Given the description of an element on the screen output the (x, y) to click on. 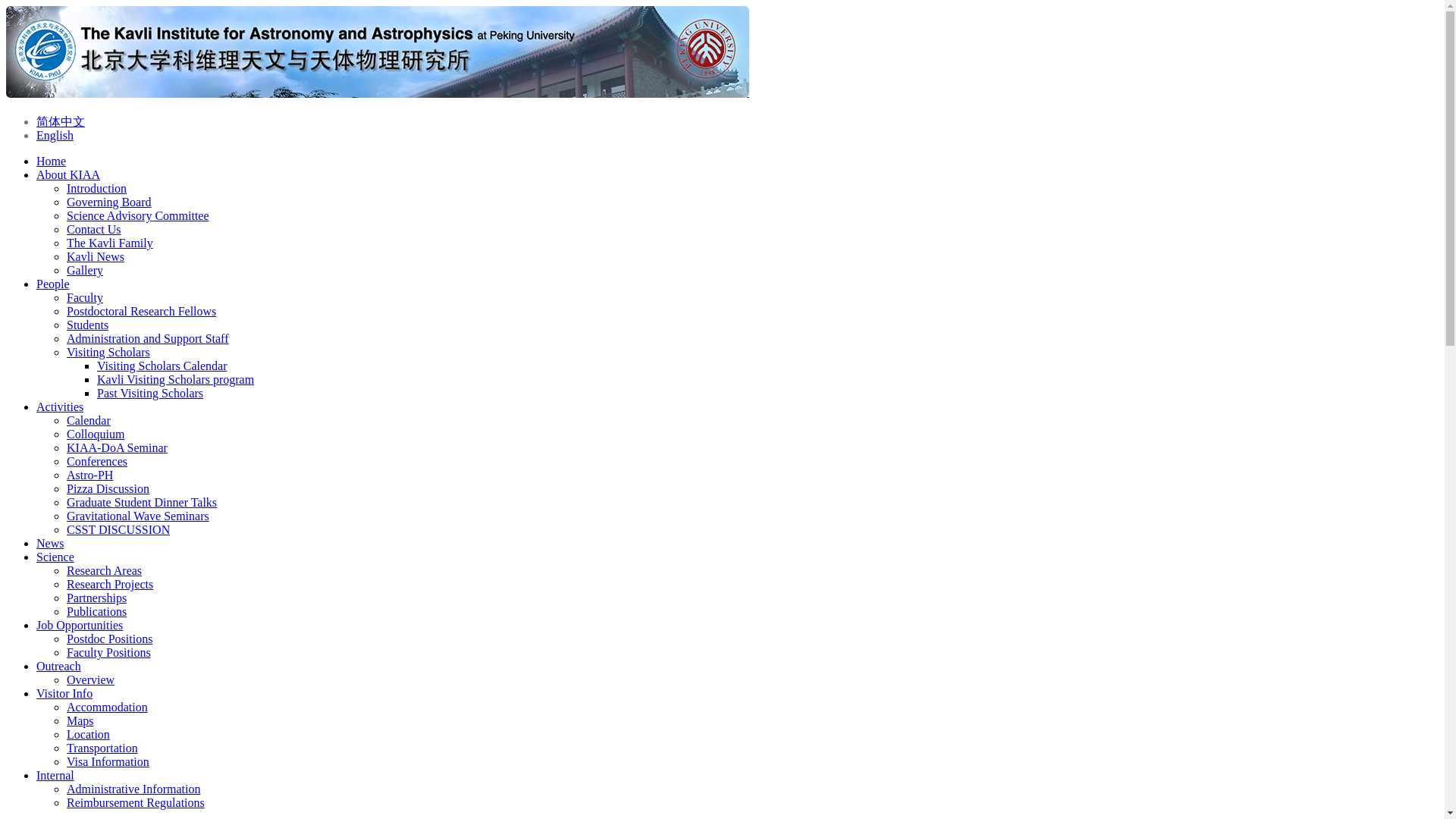
English (55, 134)
Kavli News (94, 256)
Pizza Discussion (107, 488)
Science (55, 556)
Home (377, 92)
Gallery (84, 269)
Research Areas (103, 570)
Activities (59, 406)
Graduate Student Dinner Talks (141, 502)
Introduction (96, 187)
Postdoc Positions (109, 638)
Science Advisory Committee (137, 215)
Faculty Positions (108, 652)
The Kavli Family (109, 242)
Gravitational Wave Seminars (137, 515)
